Given the description of an element on the screen output the (x, y) to click on. 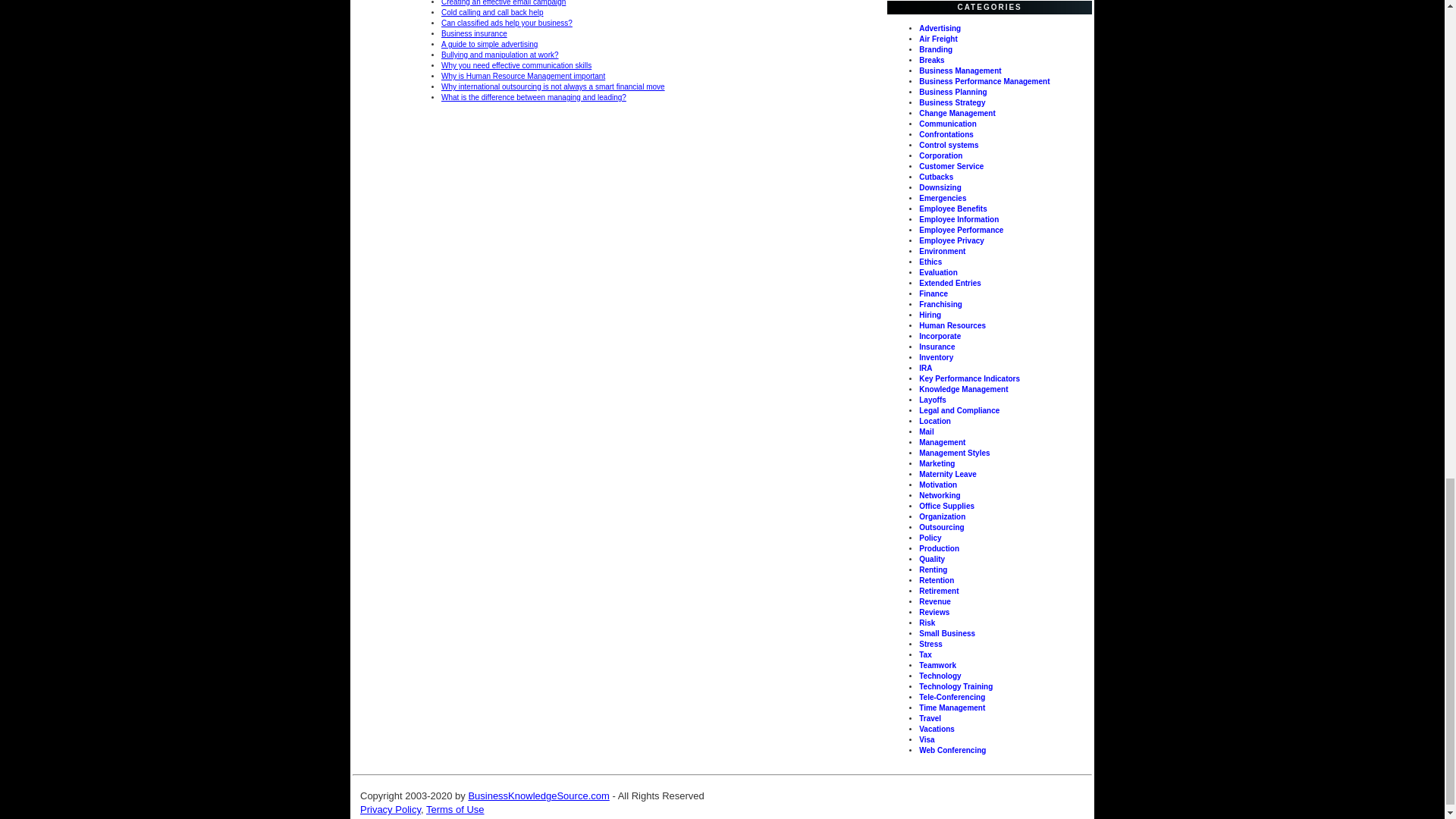
Business insurance (473, 33)
Advertising (939, 28)
Business Performance Management (983, 80)
Business (537, 795)
Branding (935, 49)
Business Planning (952, 91)
Business Strategy (951, 102)
What is the difference between managing and leading? (533, 97)
Creating an effective email campaign (503, 2)
